Given the description of an element on the screen output the (x, y) to click on. 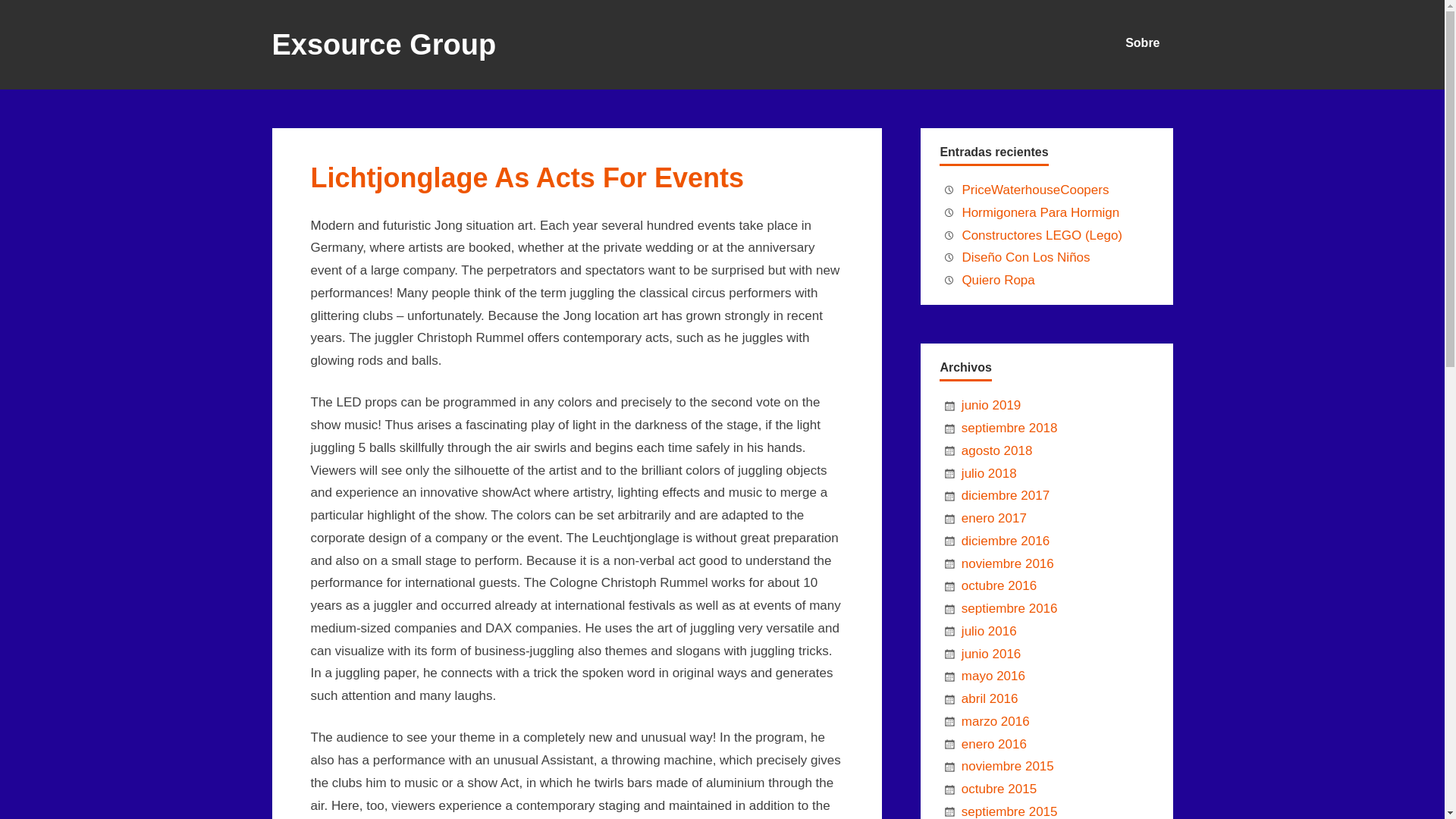
septiembre 2015 (1009, 811)
Exsource Group (383, 49)
Sobre (1141, 39)
julio 2018 (988, 473)
diciembre 2016 (1004, 540)
enero 2016 (993, 744)
julio 2016 (988, 631)
marzo 2016 (994, 721)
enero 2017 (993, 518)
junio 2016 (990, 653)
mayo 2016 (992, 676)
diciembre 2017 (1004, 495)
Quiero Ropa (996, 279)
septiembre 2018 (1009, 427)
septiembre 2016 (1009, 608)
